Given the description of an element on the screen output the (x, y) to click on. 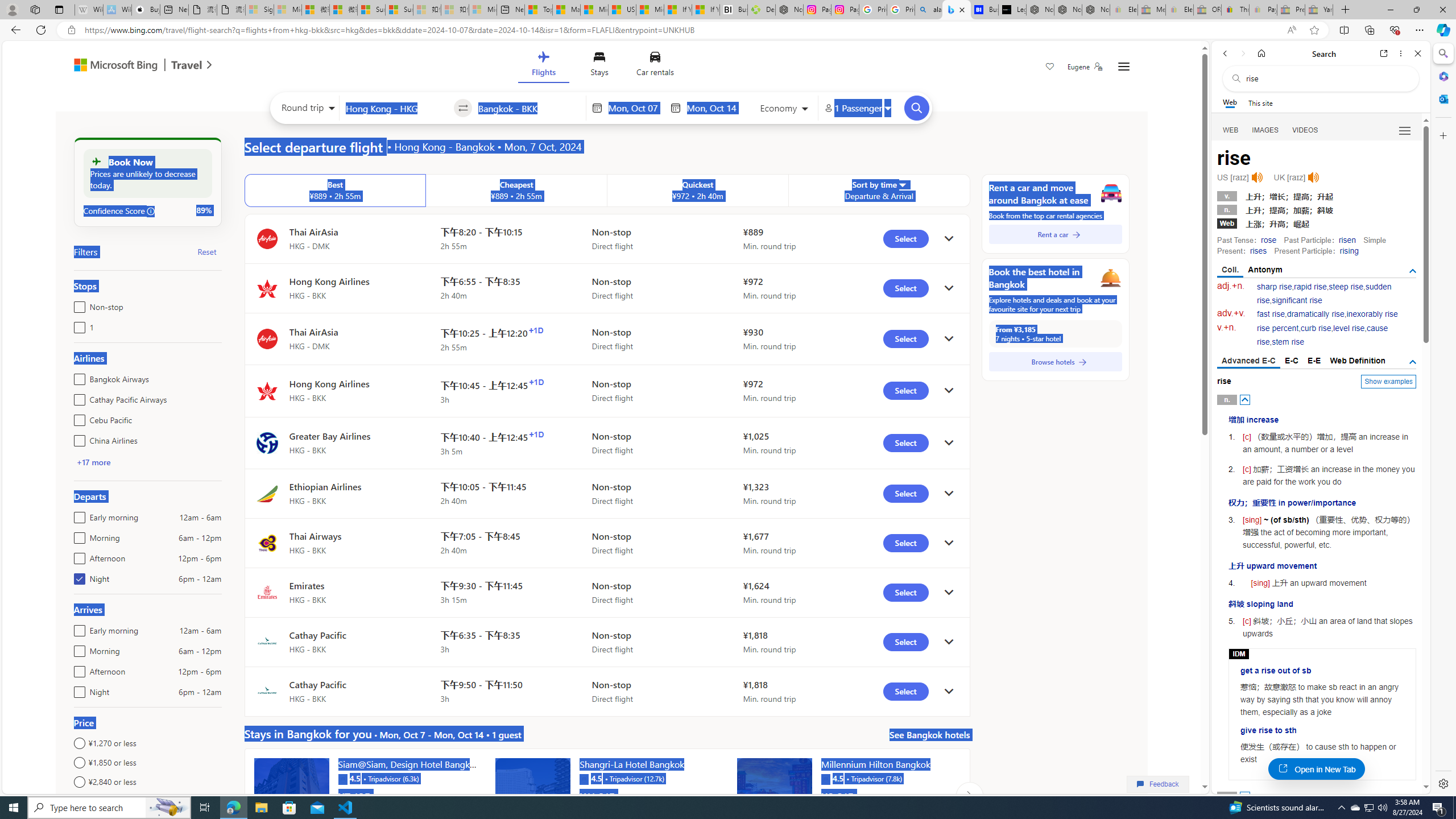
Flight logo (267, 691)
Car rentals (654, 65)
Non-stop (76, 304)
Press Room - eBay Inc. - Sleeping (1291, 9)
Travel (186, 65)
Stays (598, 65)
Early morning12am - 6am (76, 628)
rapid rise (1310, 286)
Buy iPad - Apple (145, 9)
Threats and offensive language policy | eBay (1235, 9)
Tripadvisor (825, 777)
